Given the description of an element on the screen output the (x, y) to click on. 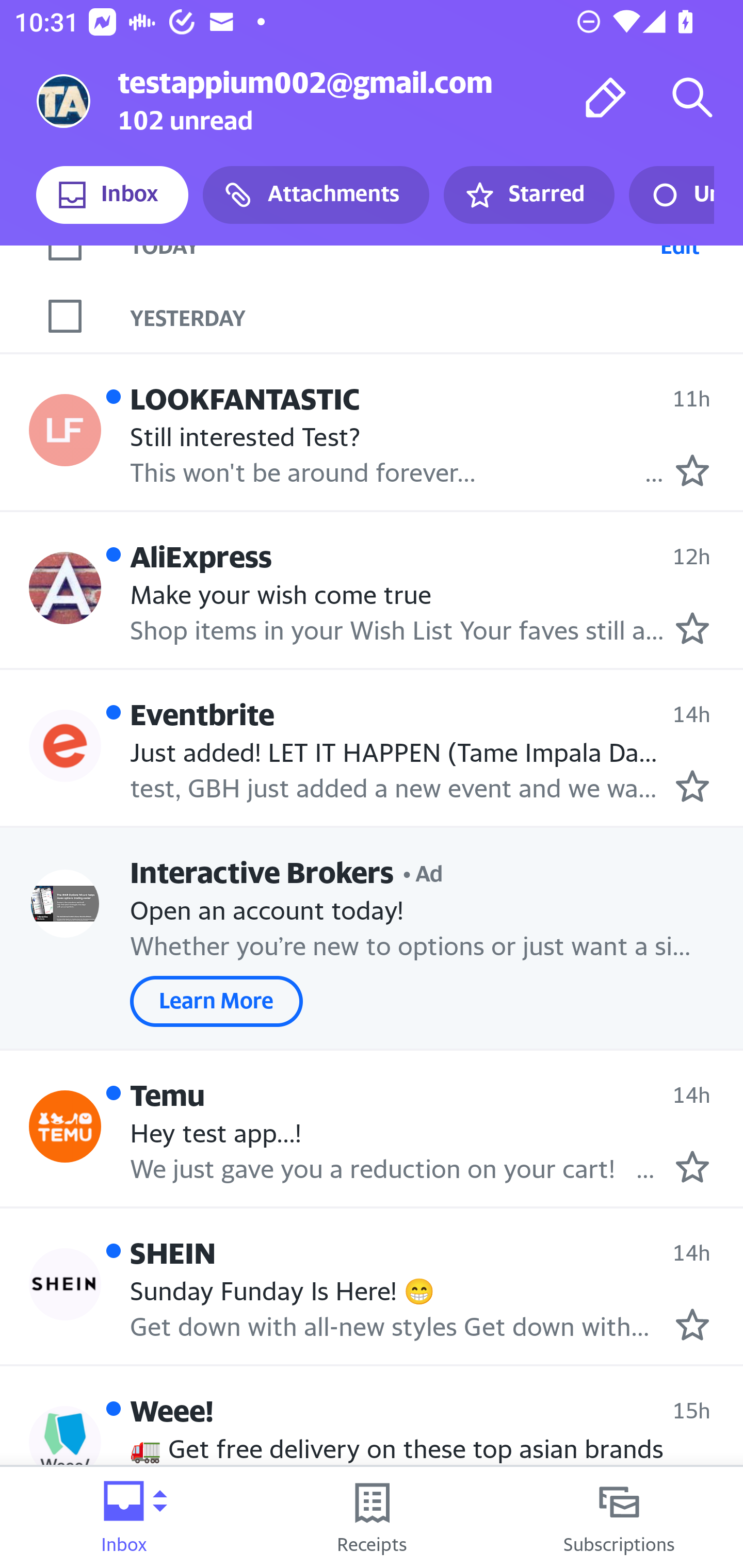
Compose (605, 97)
Search mail (692, 97)
Attachments (315, 195)
Starred (528, 195)
YESTERDAY (436, 315)
Profile
LOOKFANTASTIC (64, 429)
Mark as starred. (692, 470)
Profile
AliExpress (64, 587)
Mark as starred. (692, 627)
Profile
Eventbrite (64, 746)
Mark as starred. (692, 786)
Profile
Temu (64, 1125)
Mark as starred. (692, 1167)
Profile
SHEIN (64, 1284)
Mark as starred. (692, 1324)
Profile
Weee! (64, 1442)
Inbox Folder picker (123, 1517)
Receipts (371, 1517)
Subscriptions (619, 1517)
